Given the description of an element on the screen output the (x, y) to click on. 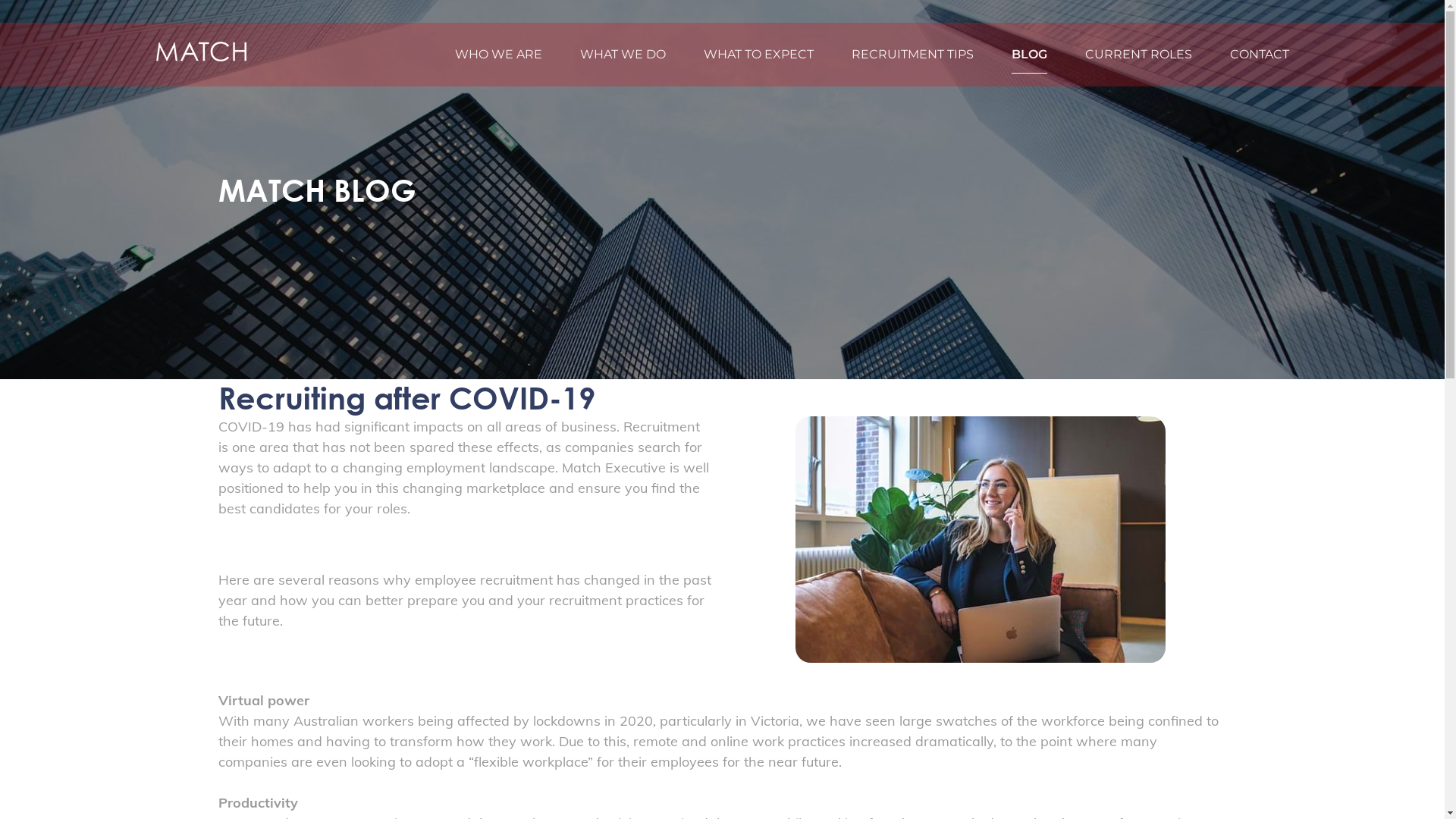
WHO WE ARE Element type: text (498, 54)
CURRENT ROLES Element type: text (1137, 54)
WHAT WE DO Element type: text (622, 54)
BLOG Element type: text (1029, 54)
WHAT TO EXPECT Element type: text (758, 54)
RECRUITMENT TIPS Element type: text (911, 54)
CONTACT Element type: text (1259, 54)
